Given the description of an element on the screen output the (x, y) to click on. 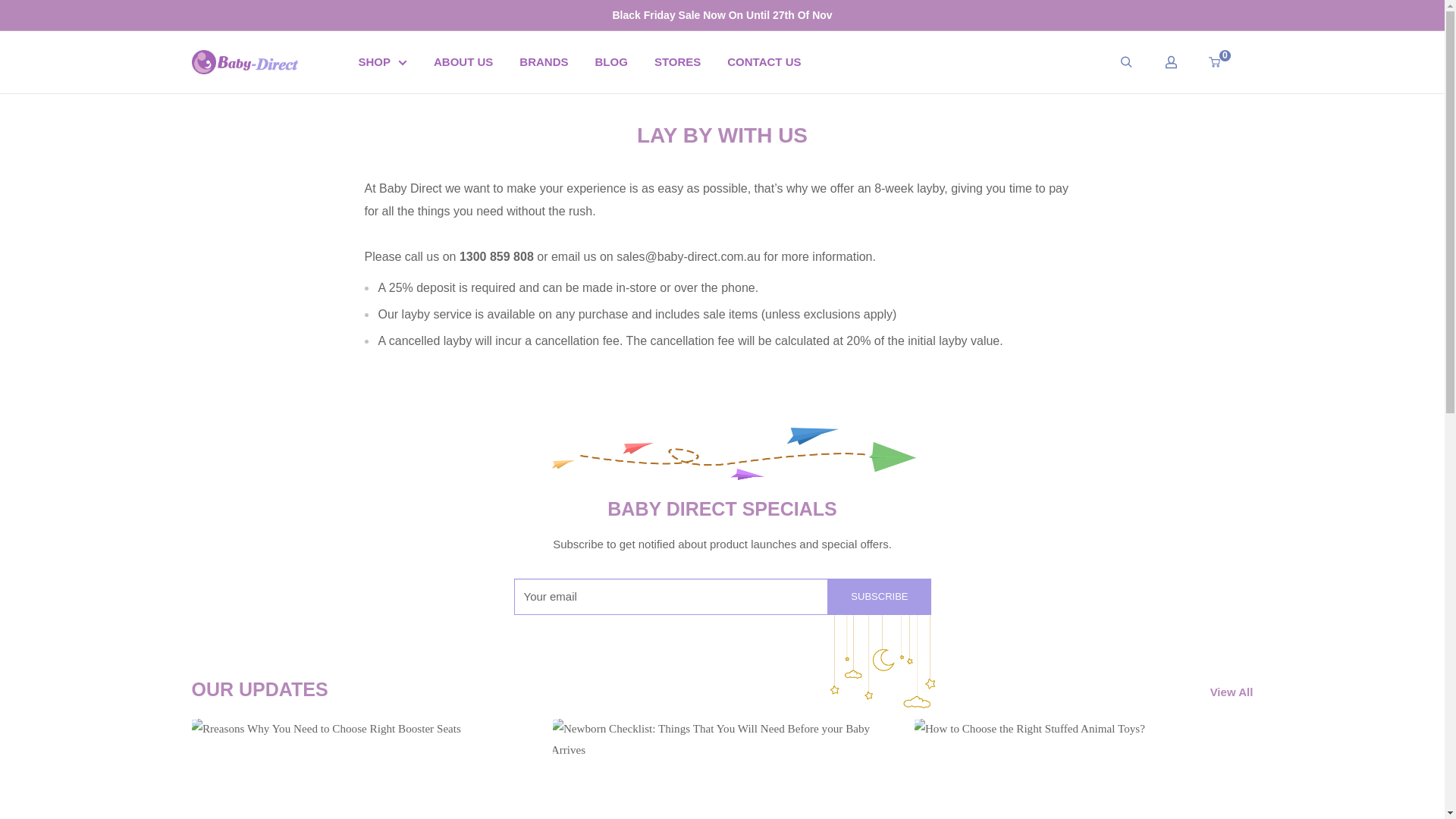
Black Friday Sale Now On Until 27th Of Nov (721, 15)
